Given the description of an element on the screen output the (x, y) to click on. 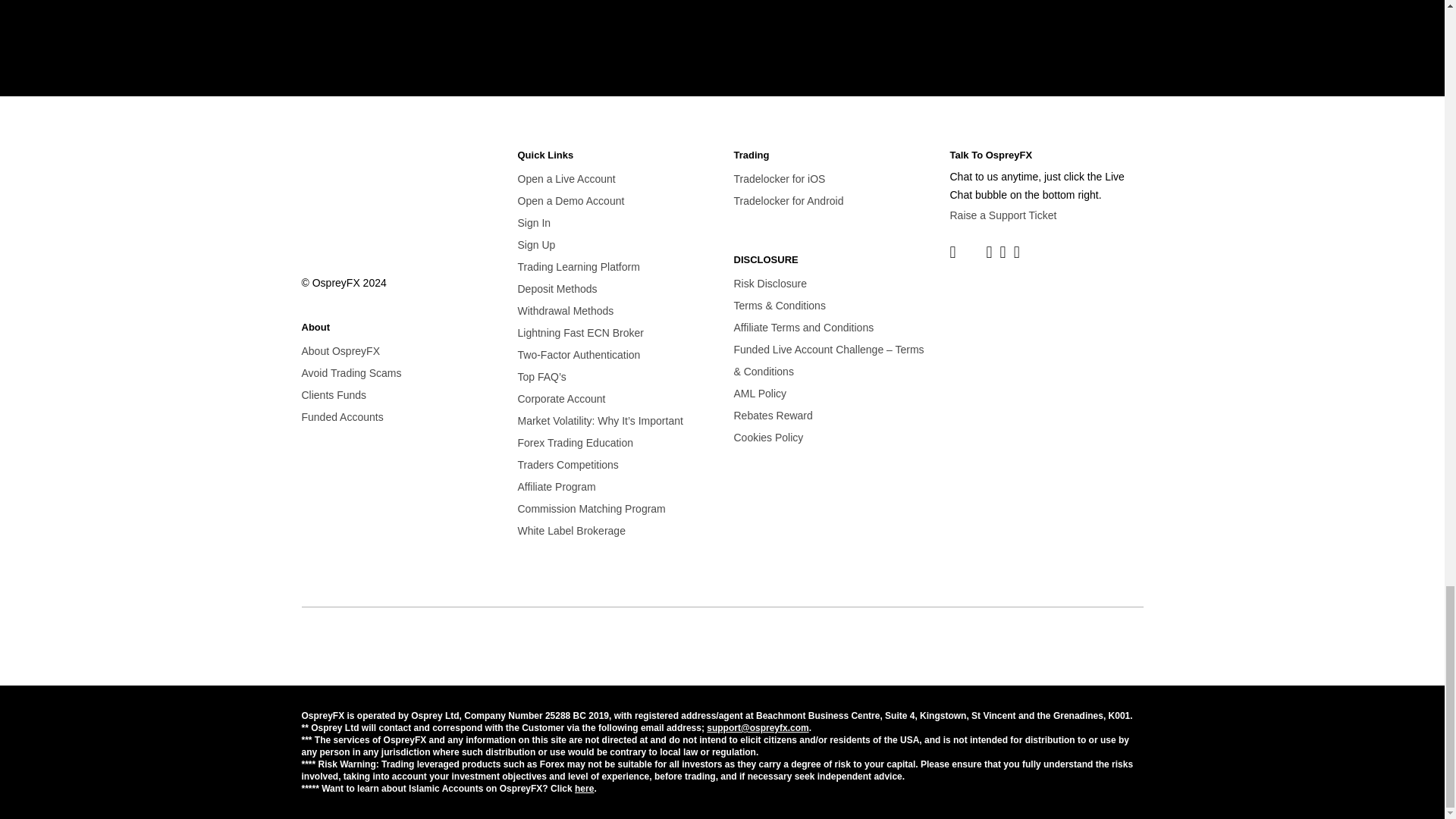
Twitter (970, 249)
